Given the description of an element on the screen output the (x, y) to click on. 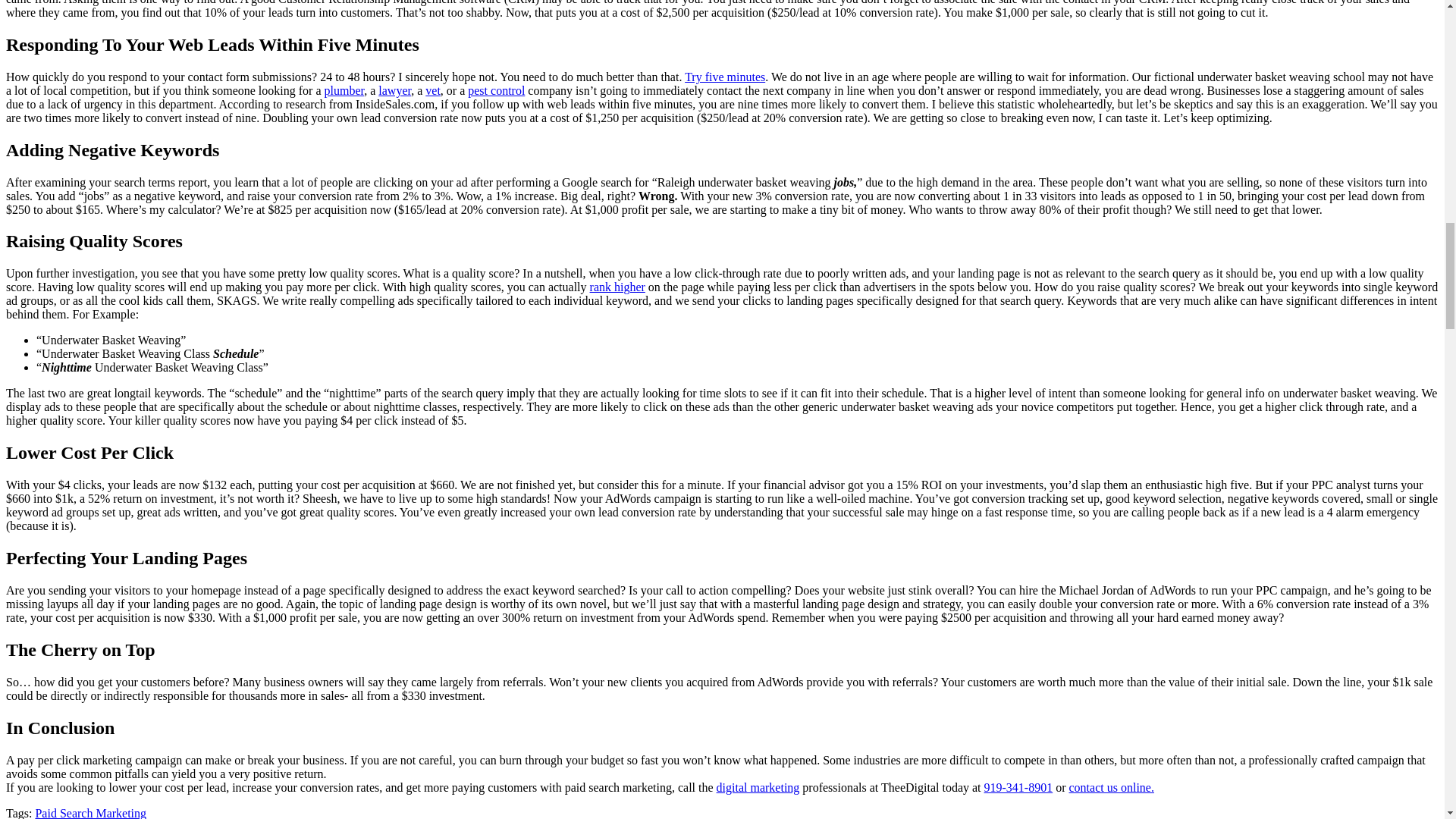
PPC Marketing for HVAC Companies (343, 90)
Contact Us (1111, 787)
Raleigh digital marketing (757, 787)
rank higher (617, 286)
PPC Marketing for Pest Control Companies (495, 90)
PPC Marketing for Veterinary Practices (433, 90)
PPC Marketing for Law Firms (394, 90)
